Given the description of an element on the screen output the (x, y) to click on. 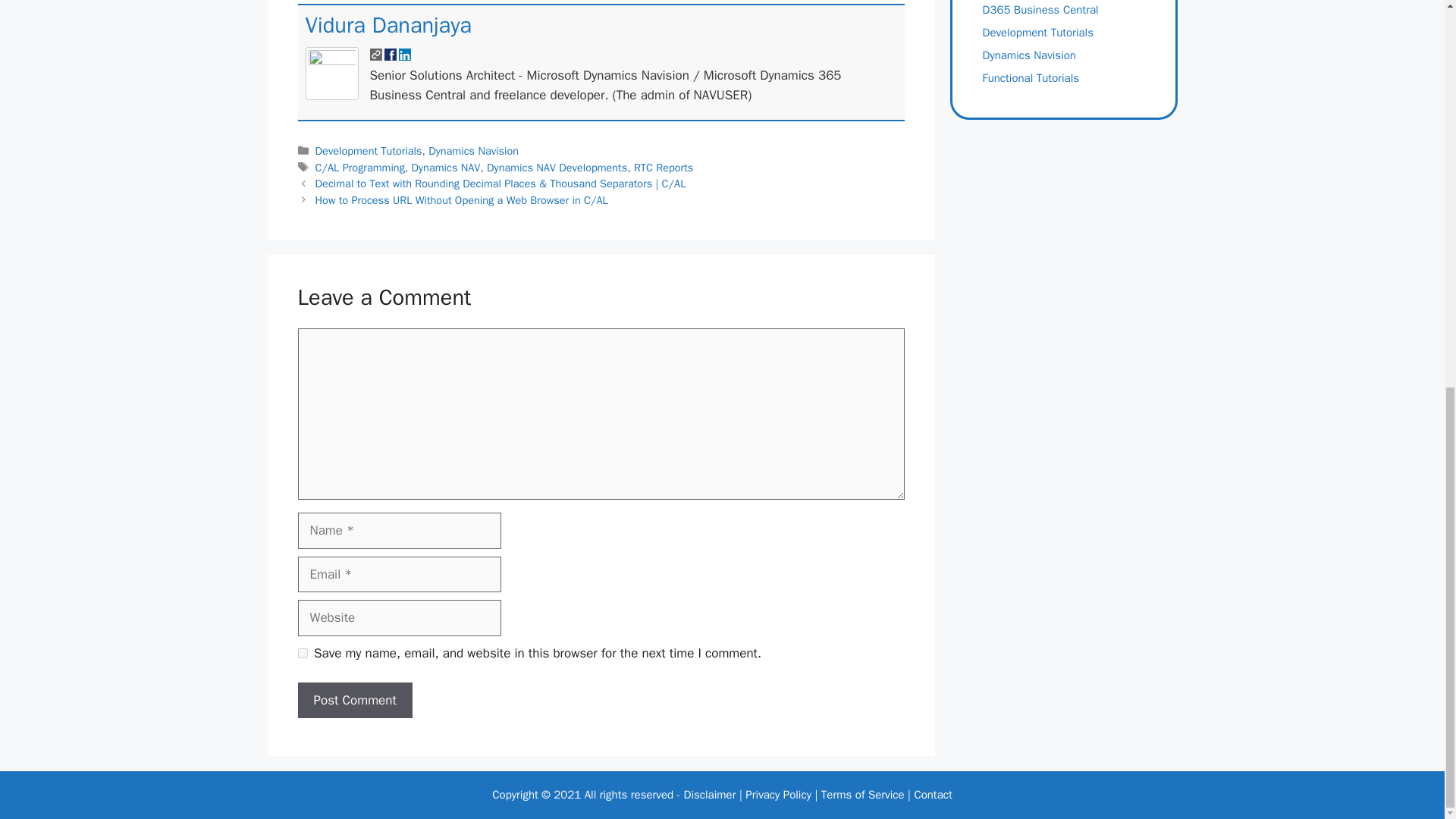
Post Comment (354, 700)
Next (461, 200)
Development Tutorials (368, 151)
Dynamics Navision (473, 151)
Dynamics NAV (446, 167)
RTC Reports (663, 167)
Dynamics NAV Developments (556, 167)
Previous (500, 183)
yes (302, 653)
Vidura Dananjaya (387, 25)
